Given the description of an element on the screen output the (x, y) to click on. 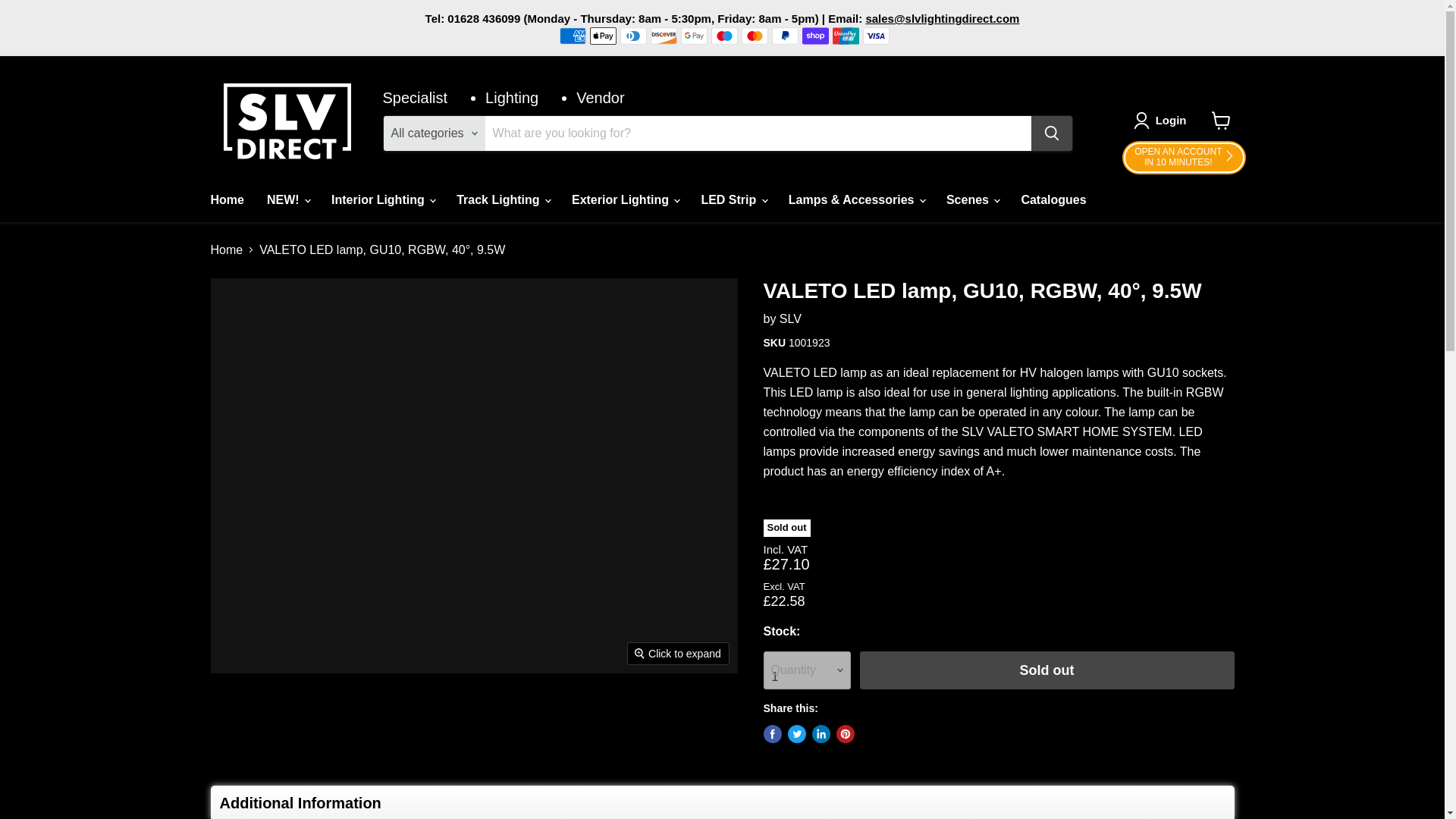
American Express (1183, 157)
PayPal (572, 35)
Login (784, 35)
Discover (1171, 120)
View cart (663, 35)
Apple Pay (1221, 120)
Diners Club (602, 35)
Visa (633, 35)
Maestro (876, 35)
Google Pay (724, 35)
SLV (694, 35)
Mastercard (790, 318)
Home (754, 35)
Shop Pay (226, 199)
